Given the description of an element on the screen output the (x, y) to click on. 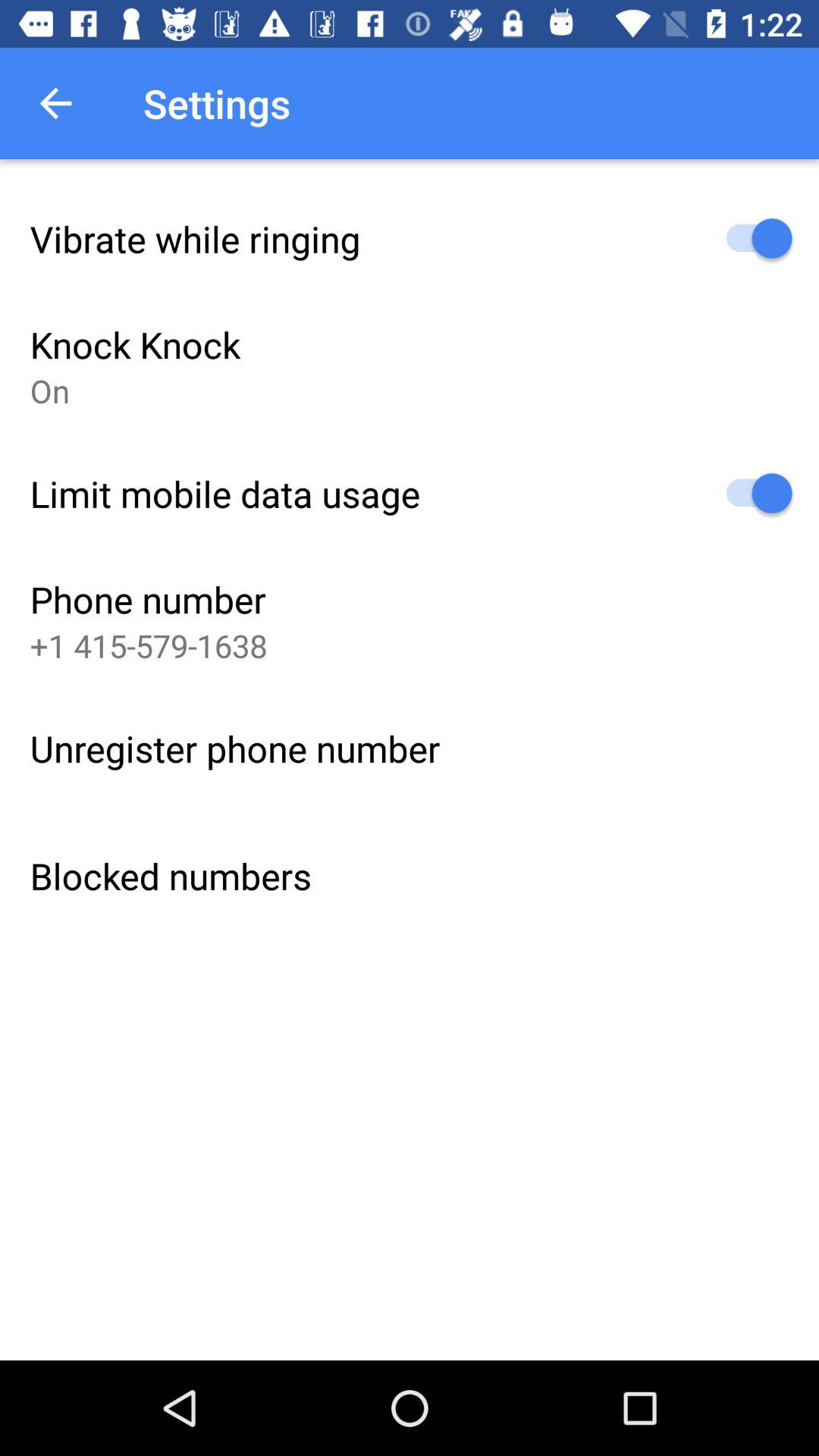
choose item above phone number item (225, 493)
